Given the description of an element on the screen output the (x, y) to click on. 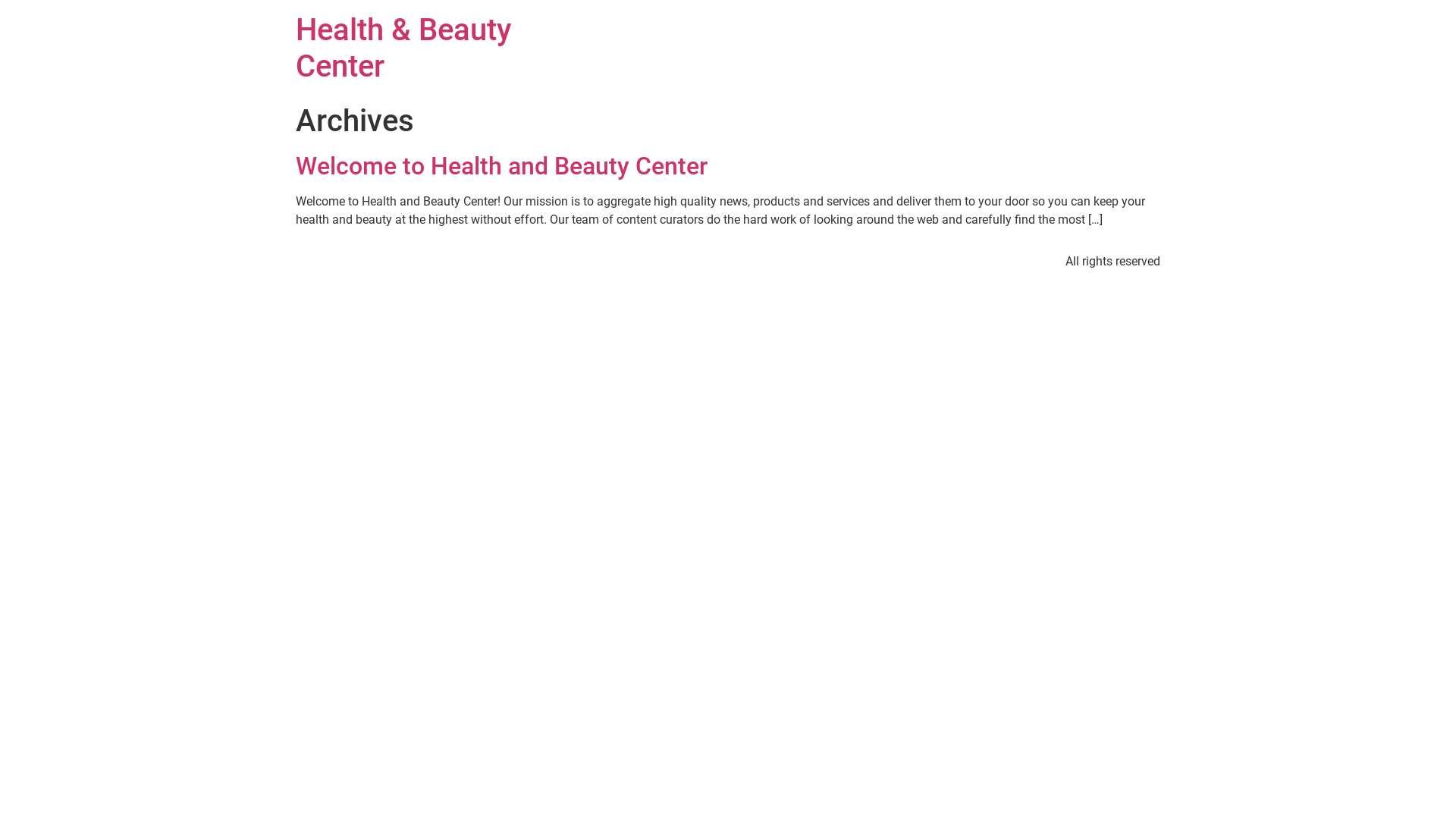
Health & Beauty Center Element type: text (403, 48)
Welcome to Health and Beauty Center Element type: text (501, 165)
